Given the description of an element on the screen output the (x, y) to click on. 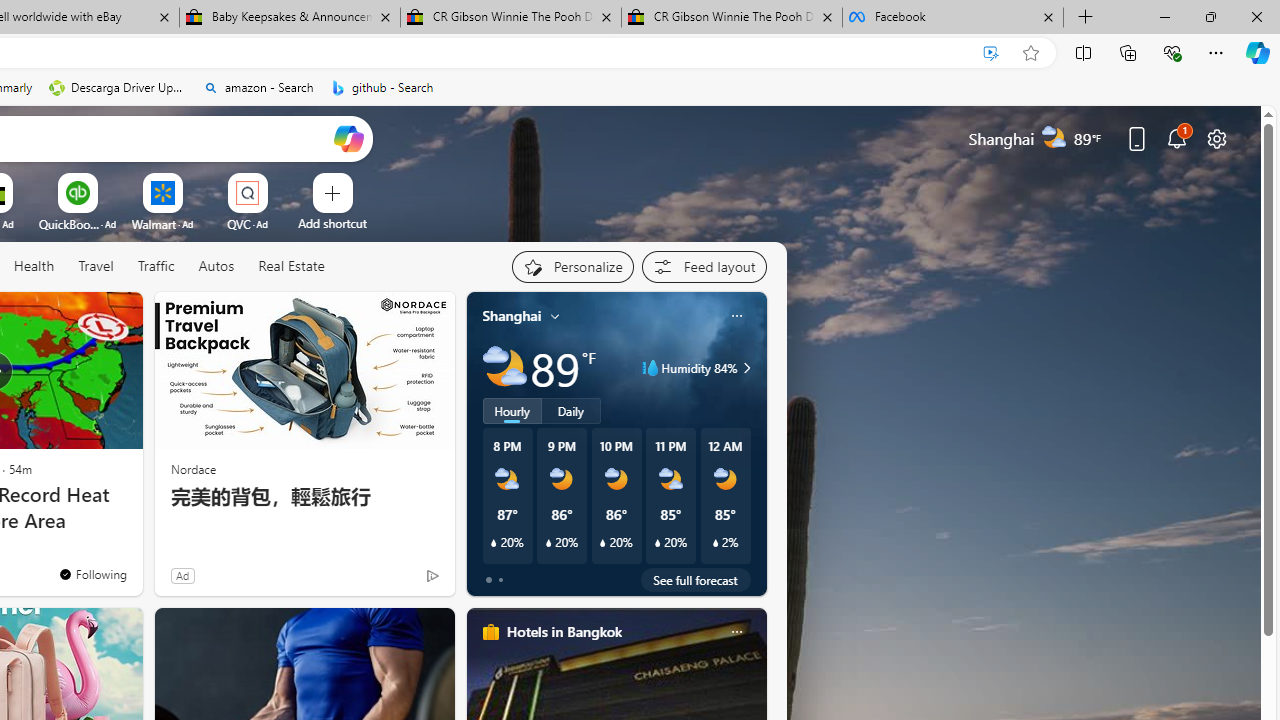
Travel (95, 267)
Hourly (511, 411)
Hide this story (82, 315)
Health (34, 265)
Class: weather-current-precipitation-glyph (715, 543)
You're following The Weather Channel (92, 573)
